Given the description of an element on the screen output the (x, y) to click on. 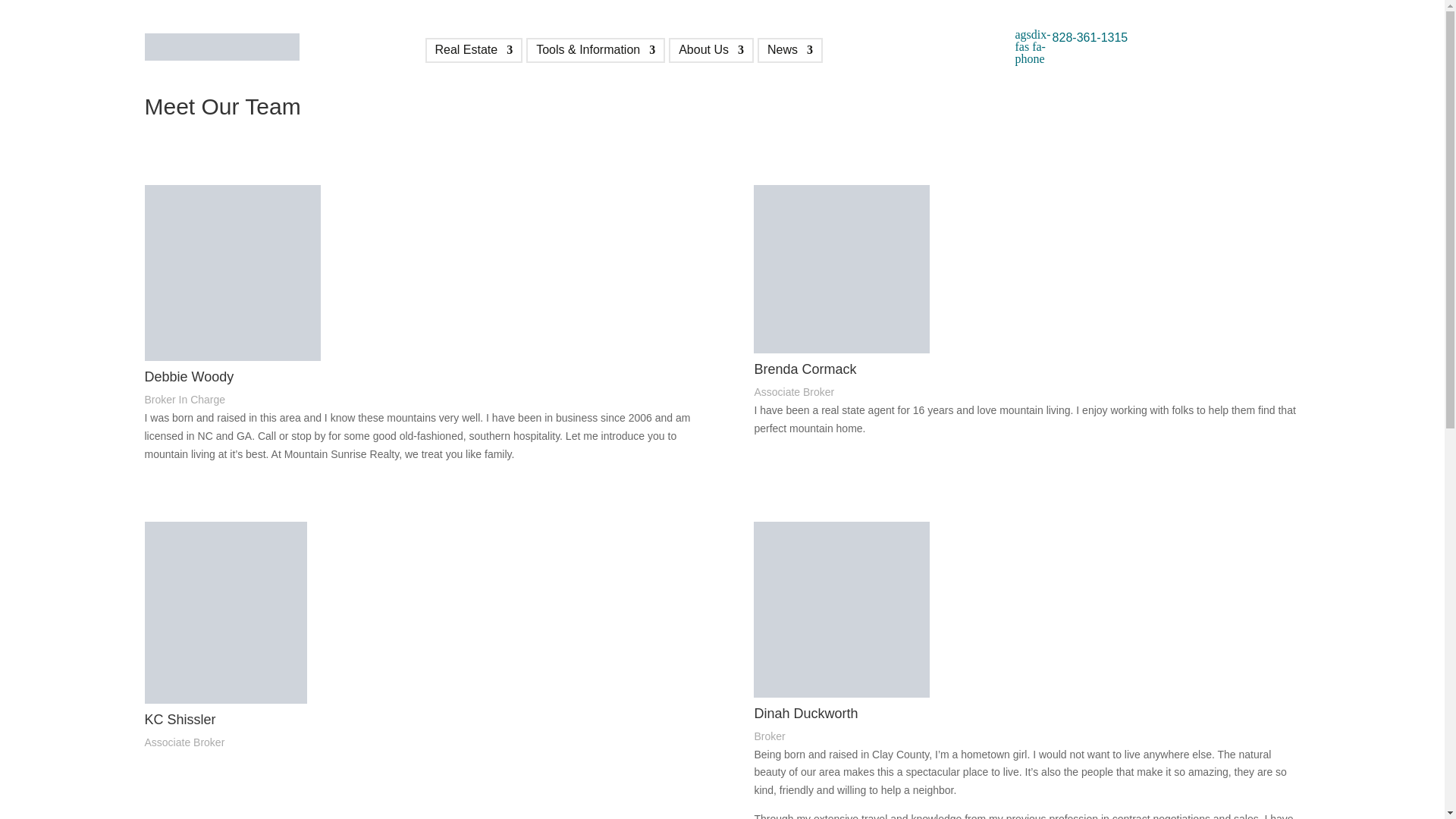
News (789, 53)
About Us (711, 53)
Real Estate (474, 53)
